Given the description of an element on the screen output the (x, y) to click on. 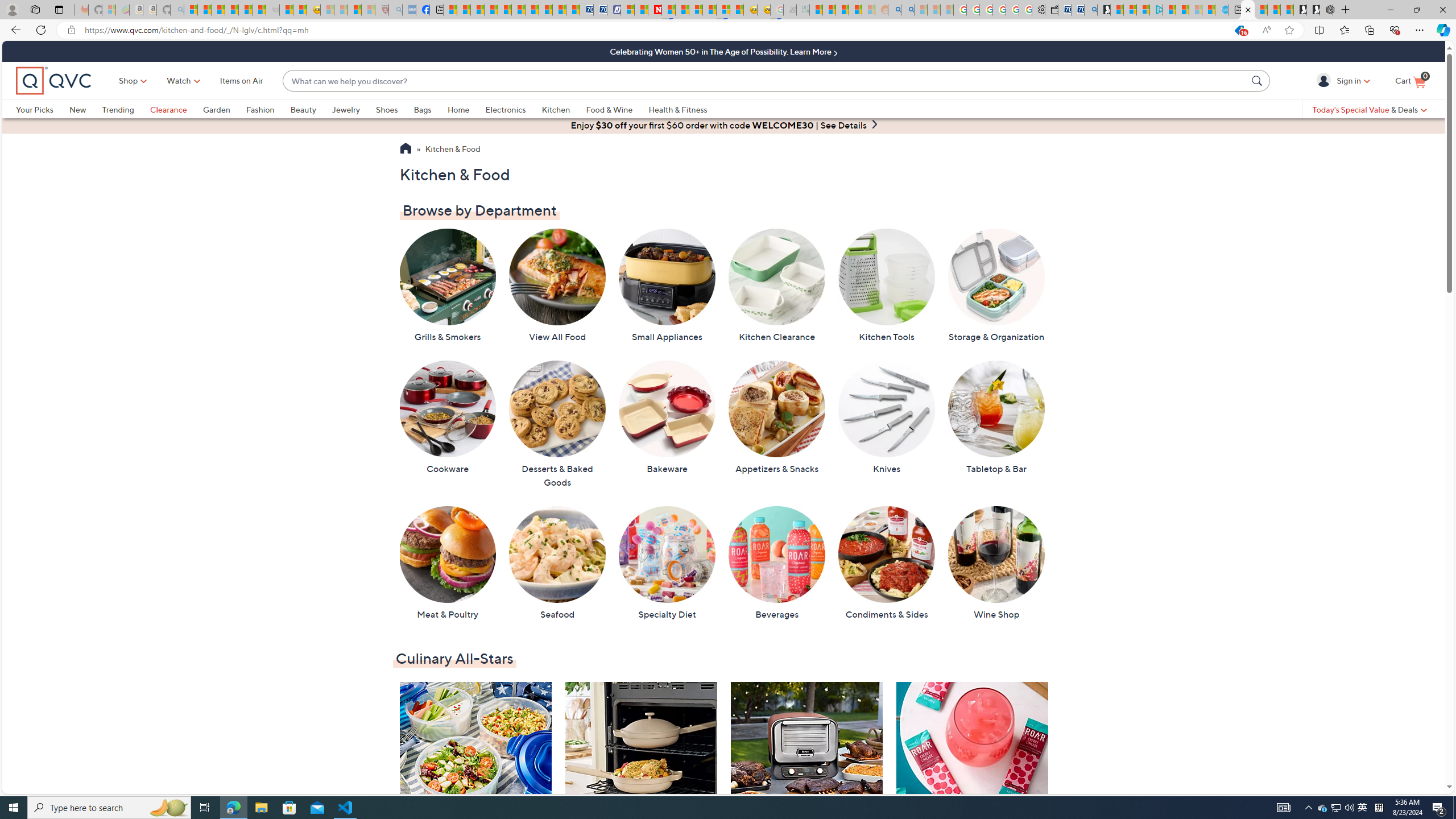
Jewelry (353, 109)
Knives (886, 417)
This site has coupons! Shopping in Microsoft Edge, 16 (1239, 29)
Trending (117, 109)
Clearance (175, 109)
Climate Damage Becomes Too Severe To Reverse (490, 9)
Bags (421, 109)
Combat Siege - Sleeping (271, 9)
